Given the description of an element on the screen output the (x, y) to click on. 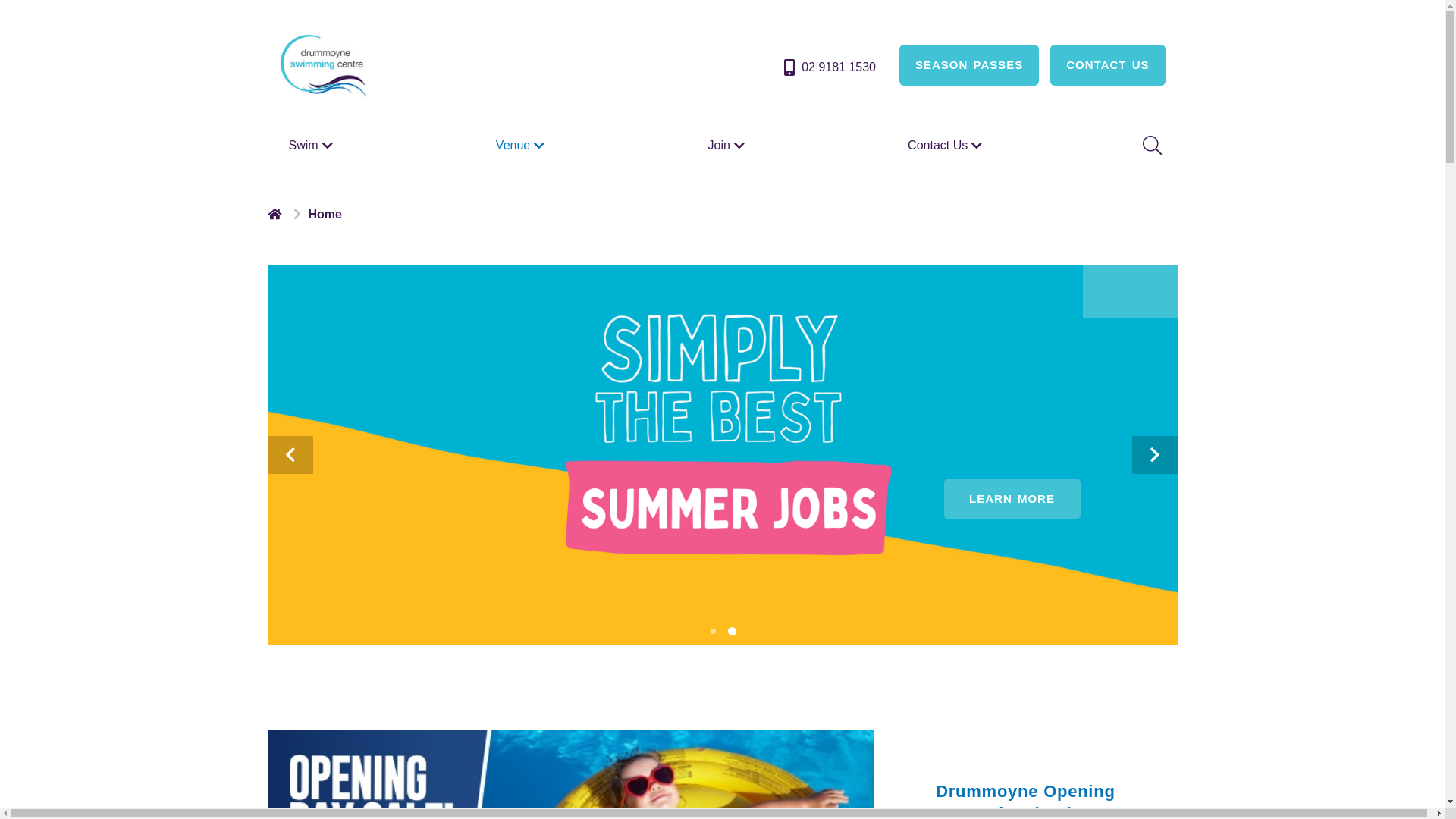
Swim Element type: text (312, 145)
LEARN MORE Element type: text (1011, 498)
  Element type: text (275, 213)
02 9181 1530 Element type: text (828, 67)
Join Element type: text (728, 145)
Contact Us Element type: text (946, 145)
Venue Element type: text (521, 145)
Prev Element type: text (289, 454)
Search Element type: text (1150, 145)
Next Element type: text (1153, 454)
CONTACT US Element type: text (1107, 64)
SEASON PASSES Element type: text (968, 64)
